Given the description of an element on the screen output the (x, y) to click on. 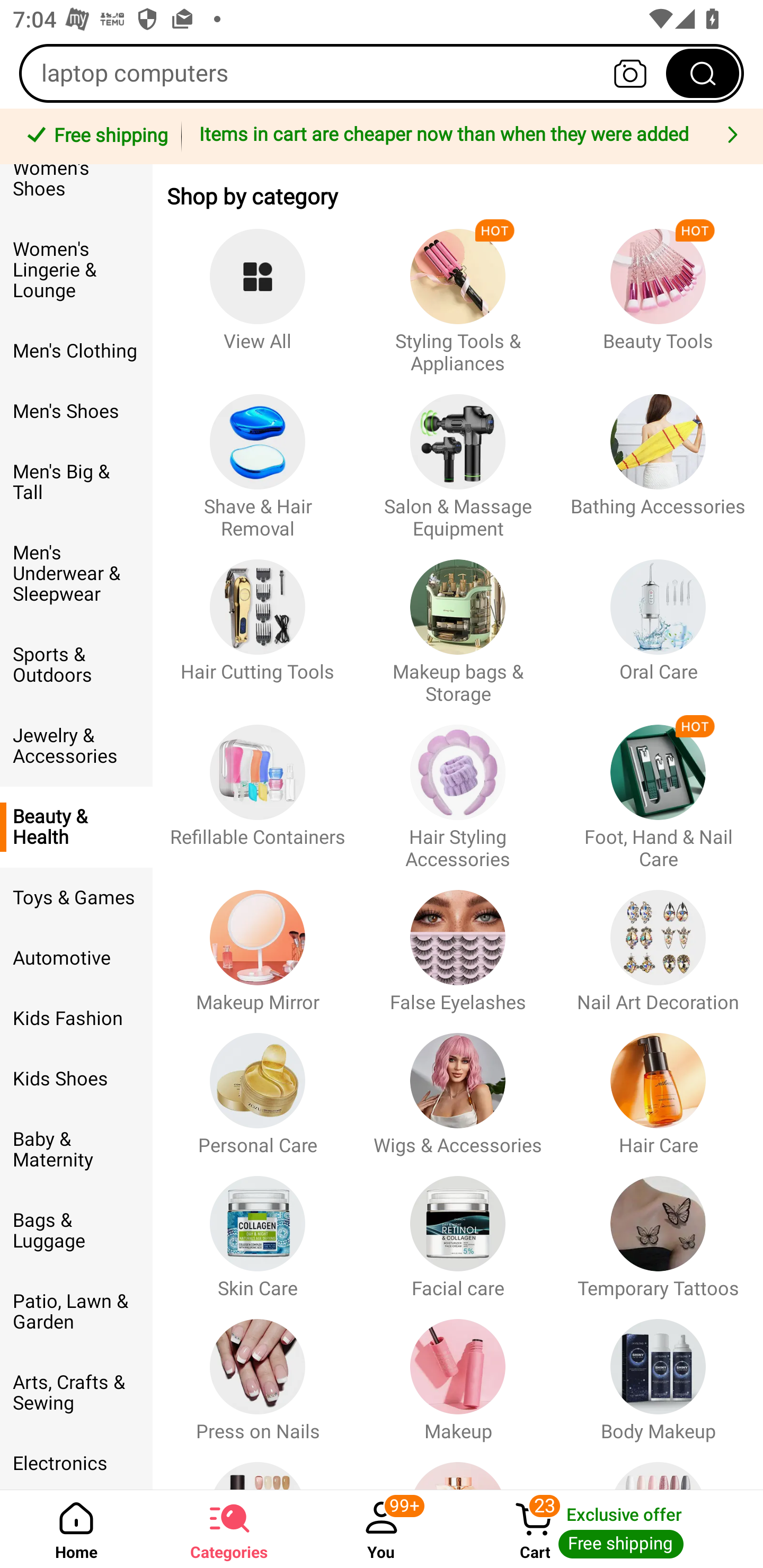
laptop computers (381, 73)
 Free shipping (93, 136)
Women's Shoes (76, 191)
View All (257, 292)
Styling Tools & Appliances (457, 292)
Beauty Tools (657, 292)
Women's Lingerie & Lounge (76, 270)
Men's Clothing (76, 351)
Shave & Hair Removal (257, 457)
Salon & Massage Equipment (457, 457)
Bathing Accessories (657, 457)
Men's Shoes (76, 411)
Men's Big & Tall (76, 482)
Men's Underwear & Sleepwear (76, 573)
Hair Cutting Tools (257, 622)
Makeup bags & Storage (457, 622)
Oral Care (657, 622)
Sports & Outdoors (76, 664)
Jewelry & Accessories (76, 746)
Refillable Containers (257, 787)
Hair Styling Accessories (457, 787)
Foot, Hand & Nail Care (657, 787)
Beauty & Health (76, 827)
Toys & Games (76, 897)
Makeup Mirror (257, 942)
False Eyelashes (457, 942)
Nail Art Decoration (657, 942)
Automotive (76, 957)
Kids Fashion (76, 1017)
Personal Care (257, 1085)
Wigs & Accessories (457, 1085)
Hair Care (657, 1085)
Kids Shoes (76, 1078)
Baby & Maternity (76, 1149)
Skin Care (257, 1228)
Facial care (457, 1228)
Temporary Tattoos (657, 1228)
Bags & Luggage (76, 1230)
Patio, Lawn & Garden (76, 1311)
Press on Nails (257, 1370)
Makeup (457, 1370)
Body Makeup (657, 1370)
Arts, Crafts & Sewing (76, 1392)
Electronics (76, 1461)
Home (76, 1528)
Categories (228, 1528)
You ‎99+‎ You (381, 1528)
Cart 23 Cart Exclusive offer (610, 1528)
